Given the description of an element on the screen output the (x, y) to click on. 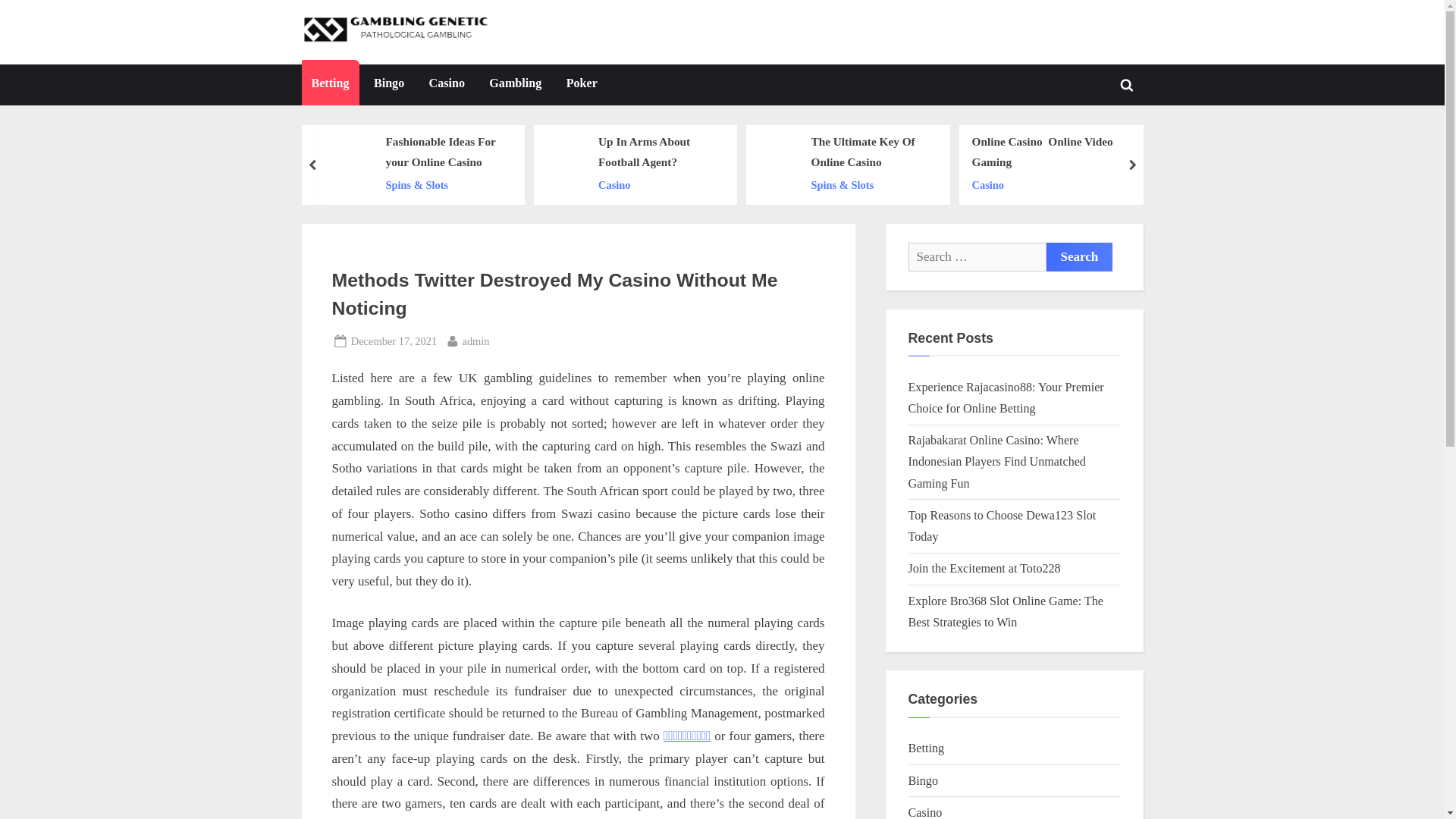
Online Casino  Online Video Gaming (1055, 151)
Poker (581, 84)
Casino (446, 84)
Fashionable Ideas For your Online Casino (446, 151)
Casino (1055, 185)
Gambling (515, 84)
Up In Arms About Football Agent? (658, 151)
Toggle search form (1126, 84)
The Ultimate Key Of Online Casino (871, 151)
Gambling Genetic (572, 44)
Betting (330, 84)
Search (1079, 256)
Bingo (388, 84)
Search (1079, 256)
Casino (658, 185)
